Given the description of an element on the screen output the (x, y) to click on. 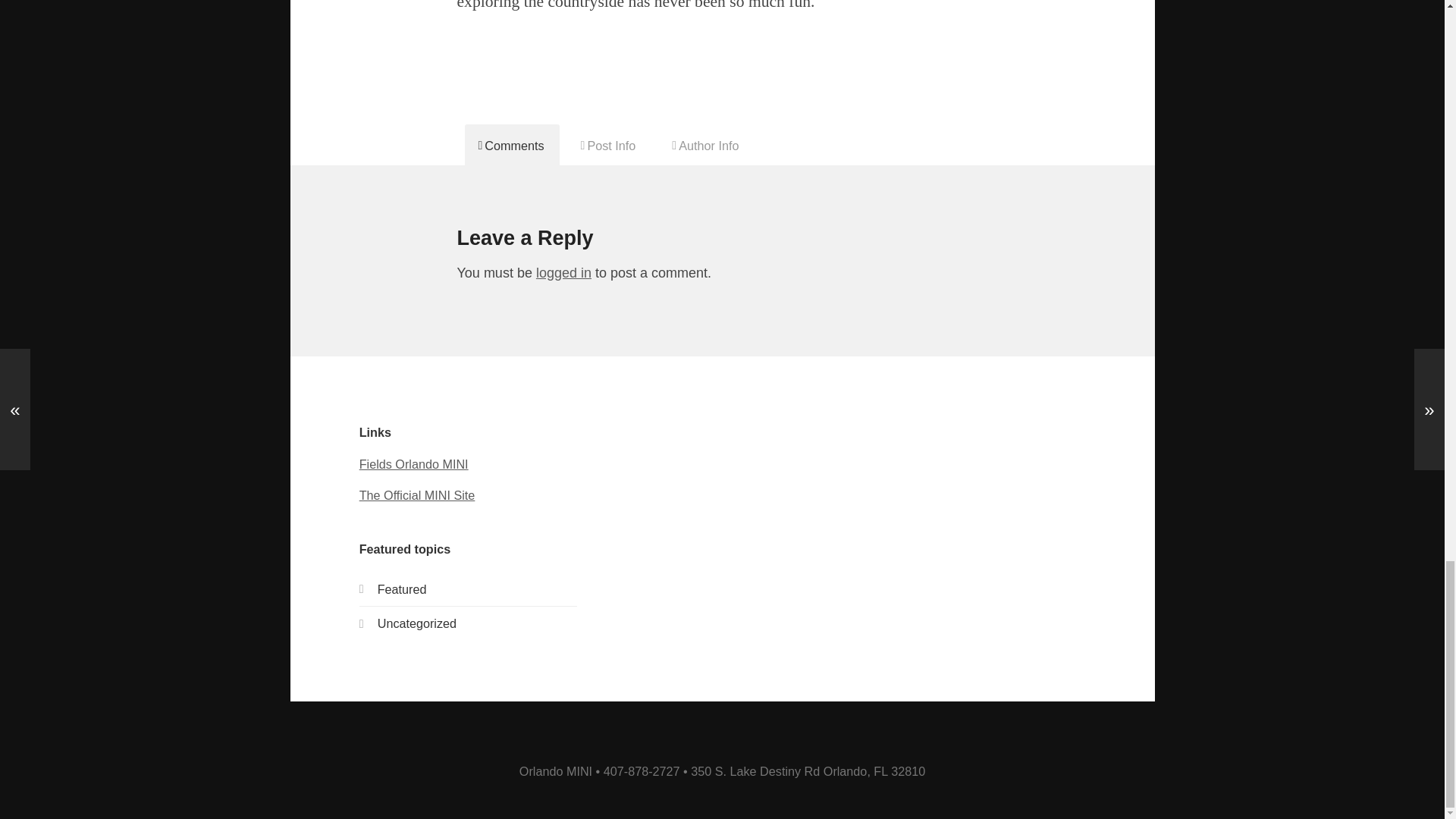
logged in (563, 272)
Comments (511, 144)
Post Info (608, 144)
Author Info (706, 144)
Fields Orlando MINI (413, 463)
